Given the description of an element on the screen output the (x, y) to click on. 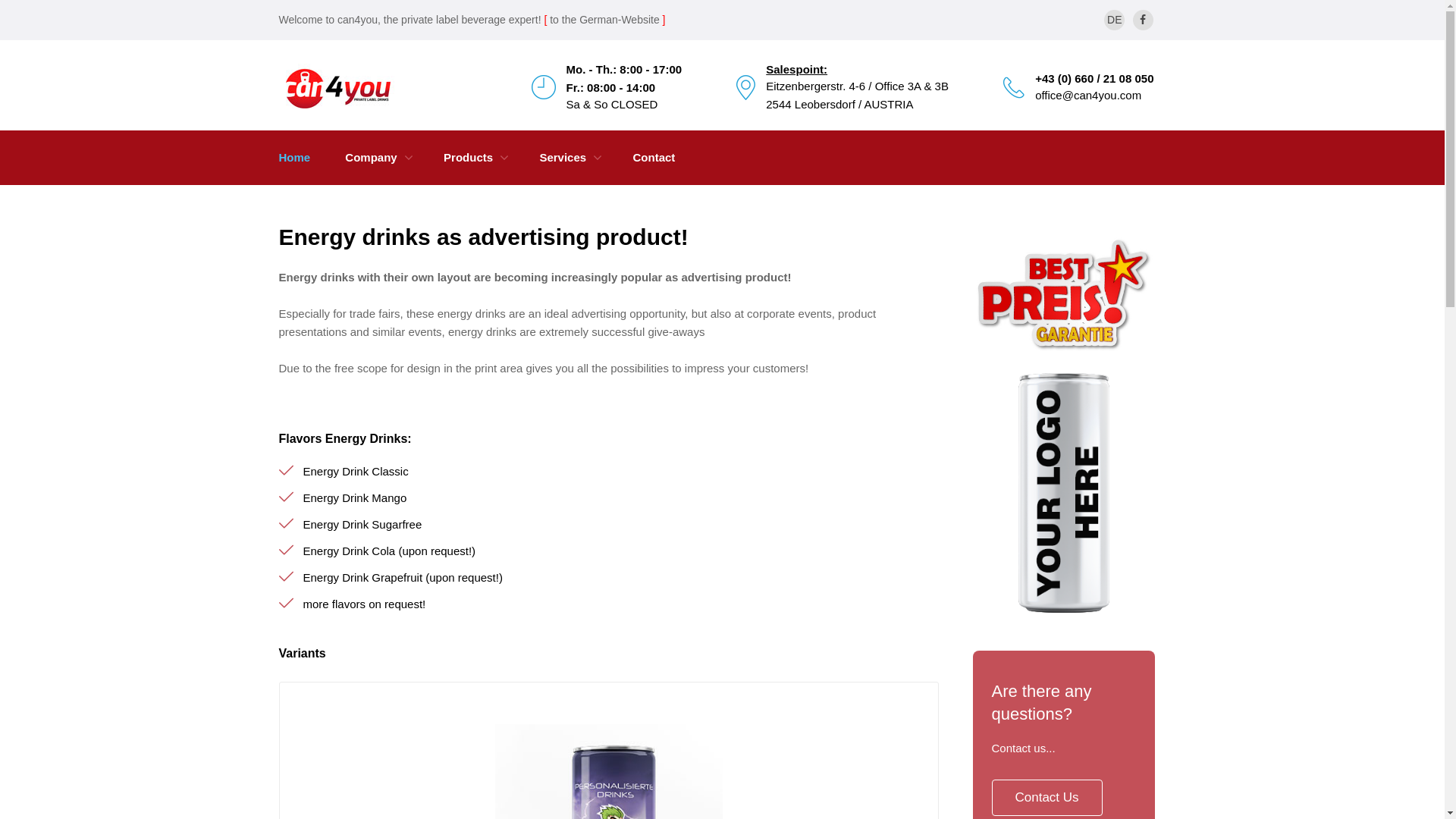
office@can4you.com Element type: text (1088, 95)
Home Element type: text (294, 156)
Contact Us Element type: text (1046, 797)
Company Element type: text (370, 156)
Services Element type: text (562, 156)
Products Element type: text (467, 156)
+43 (0) 660 / 21 08 050 Element type: text (1094, 78)
to the German-Website Element type: text (603, 20)
DE Element type: text (1114, 19)
Contact Element type: text (653, 156)
